Given the description of an element on the screen output the (x, y) to click on. 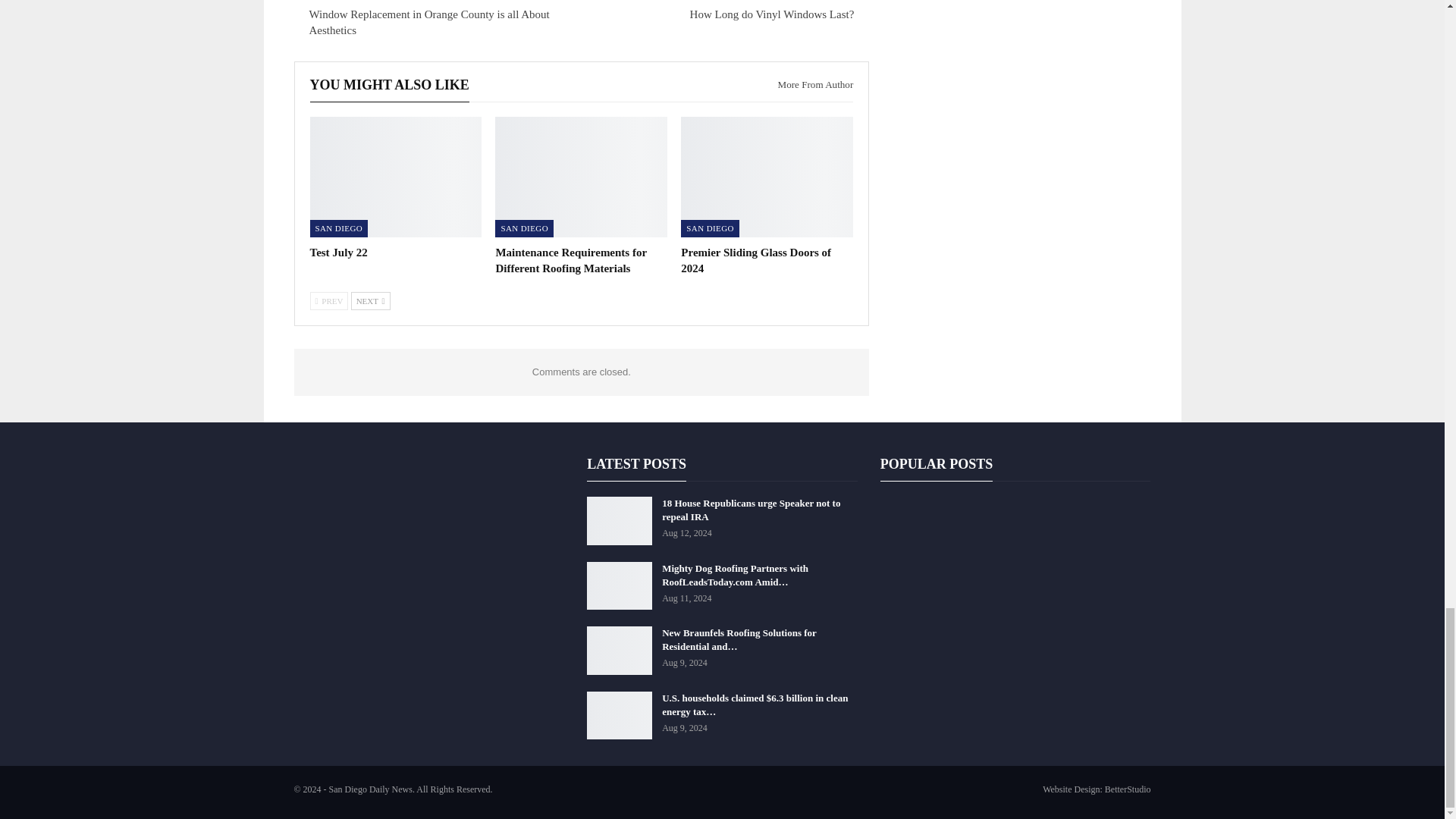
Maintenance Requirements for Different Roofing Materials (570, 260)
Previous (327, 300)
Test July 22 (394, 177)
Test July 22 (337, 252)
Maintenance Requirements for Different Roofing Materials (580, 177)
Next (370, 300)
Premier Sliding Glass Doors of 2024 (756, 260)
Premier Sliding Glass Doors of 2024 (767, 177)
